Given the description of an element on the screen output the (x, y) to click on. 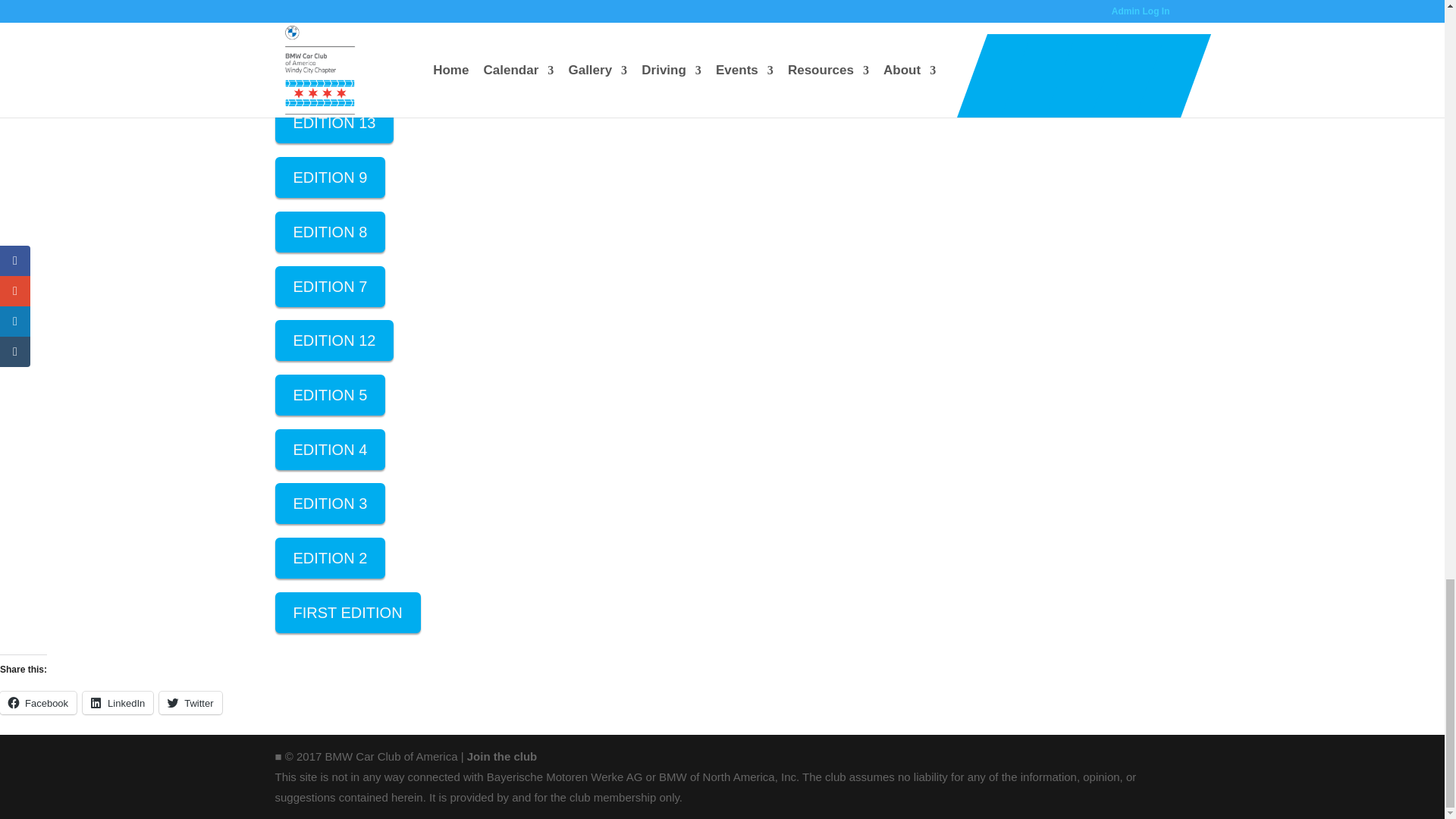
Click to share on Twitter (189, 702)
Click to share on LinkedIn (117, 702)
Click to share on Facebook (38, 702)
